Given the description of an element on the screen output the (x, y) to click on. 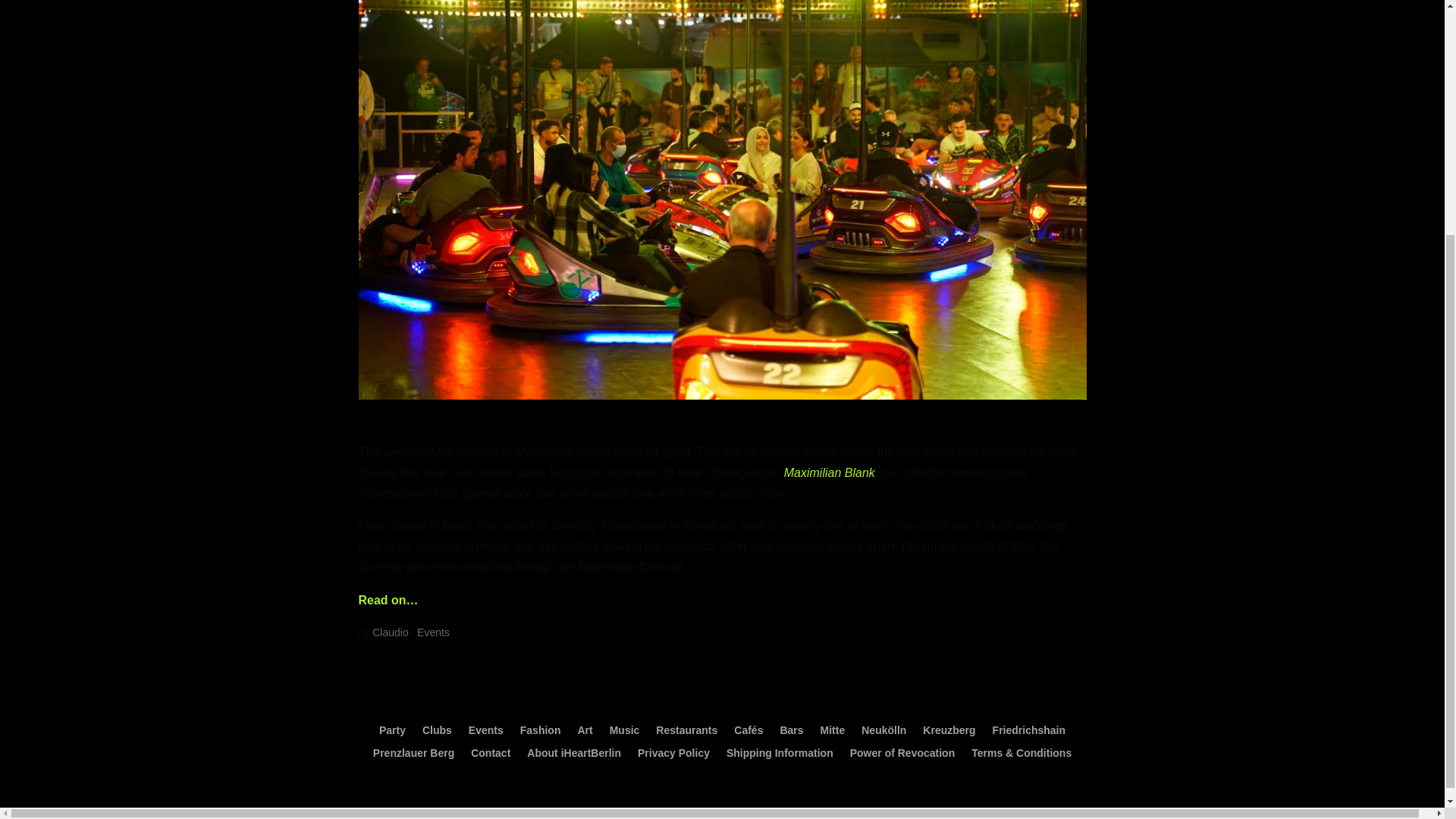
Clubs (436, 733)
Events (485, 733)
Claudio (389, 632)
Art (584, 733)
Prenzlauer Berg (413, 755)
Posts by Claudio (389, 632)
Restaurants (686, 733)
Bars (790, 733)
Party (392, 733)
Friedrichshain (1028, 733)
THE AMBIVALENT MAGIC OF MAIENTAGE IN HASENHEIDE (668, 422)
Fashion (539, 733)
Music (625, 733)
Events (432, 632)
Kreuzberg (949, 733)
